Given the description of an element on the screen output the (x, y) to click on. 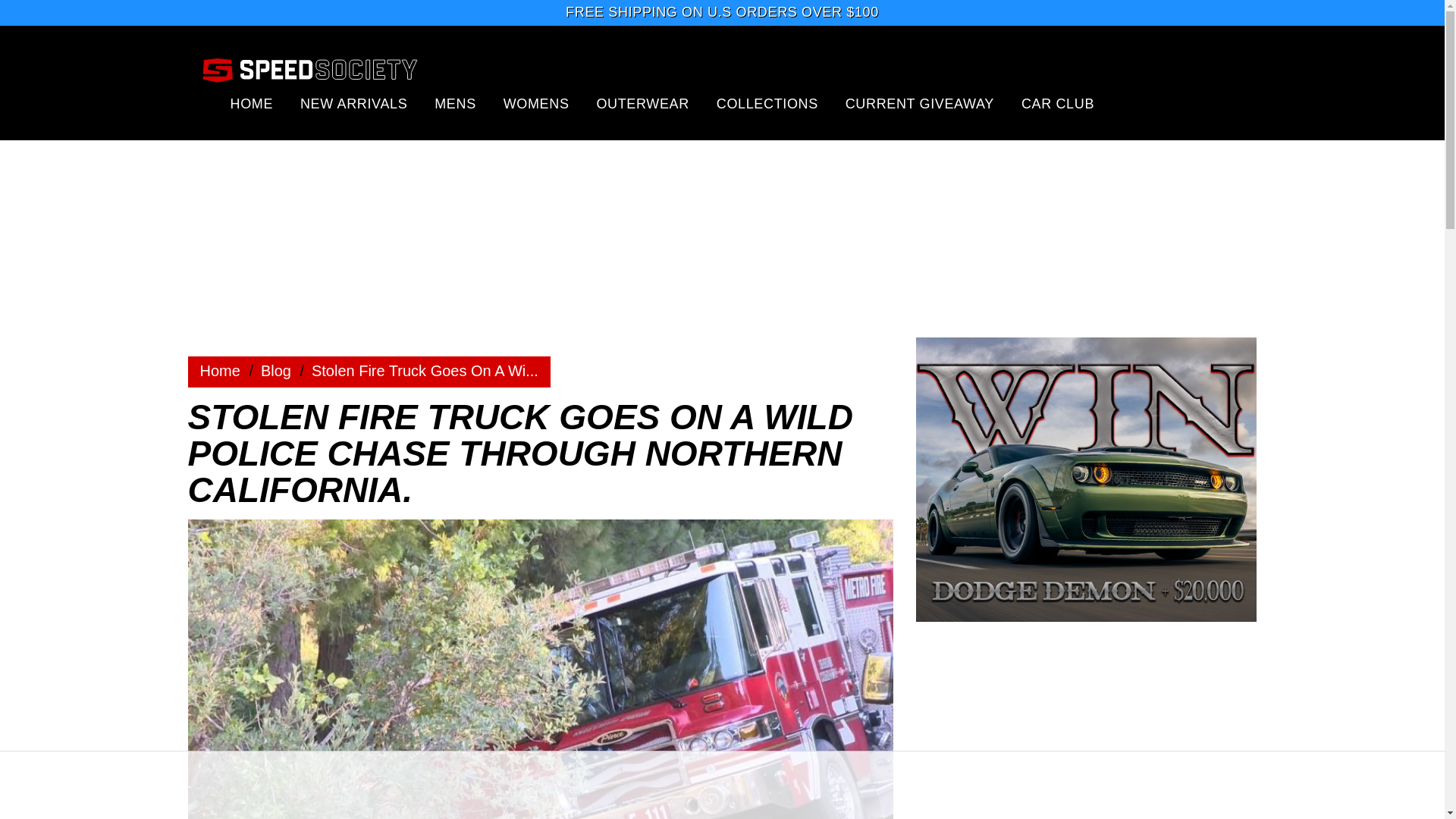
speed society logo (308, 69)
Stolen Fire Truck Goes On A Wi... (424, 370)
Home (220, 370)
Blog (275, 370)
HOME (251, 103)
Home (220, 370)
MENS (454, 103)
Home (275, 370)
WOMENS (536, 103)
